Given the description of an element on the screen output the (x, y) to click on. 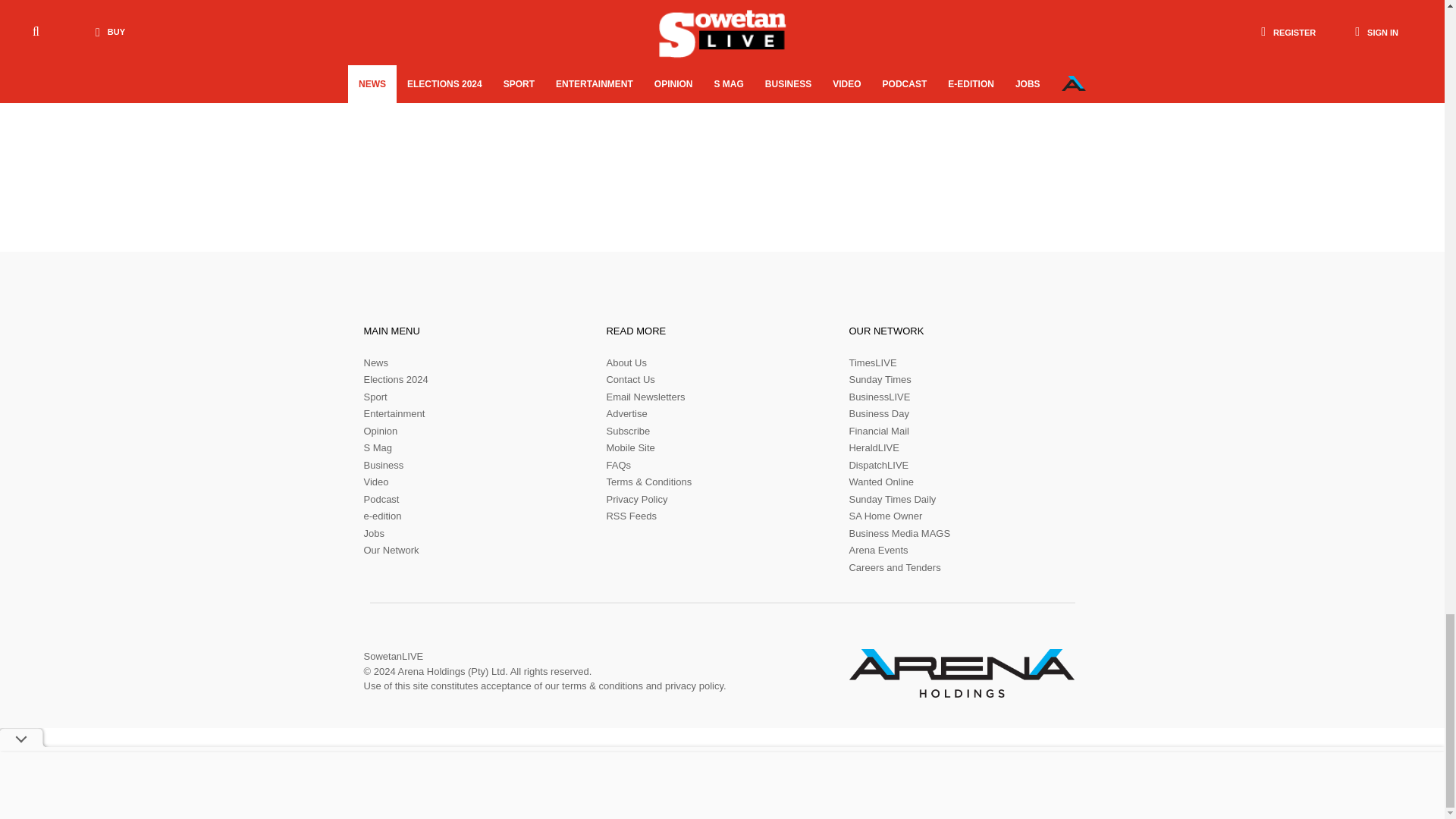
3rd party ad content (970, 72)
